Given the description of an element on the screen output the (x, y) to click on. 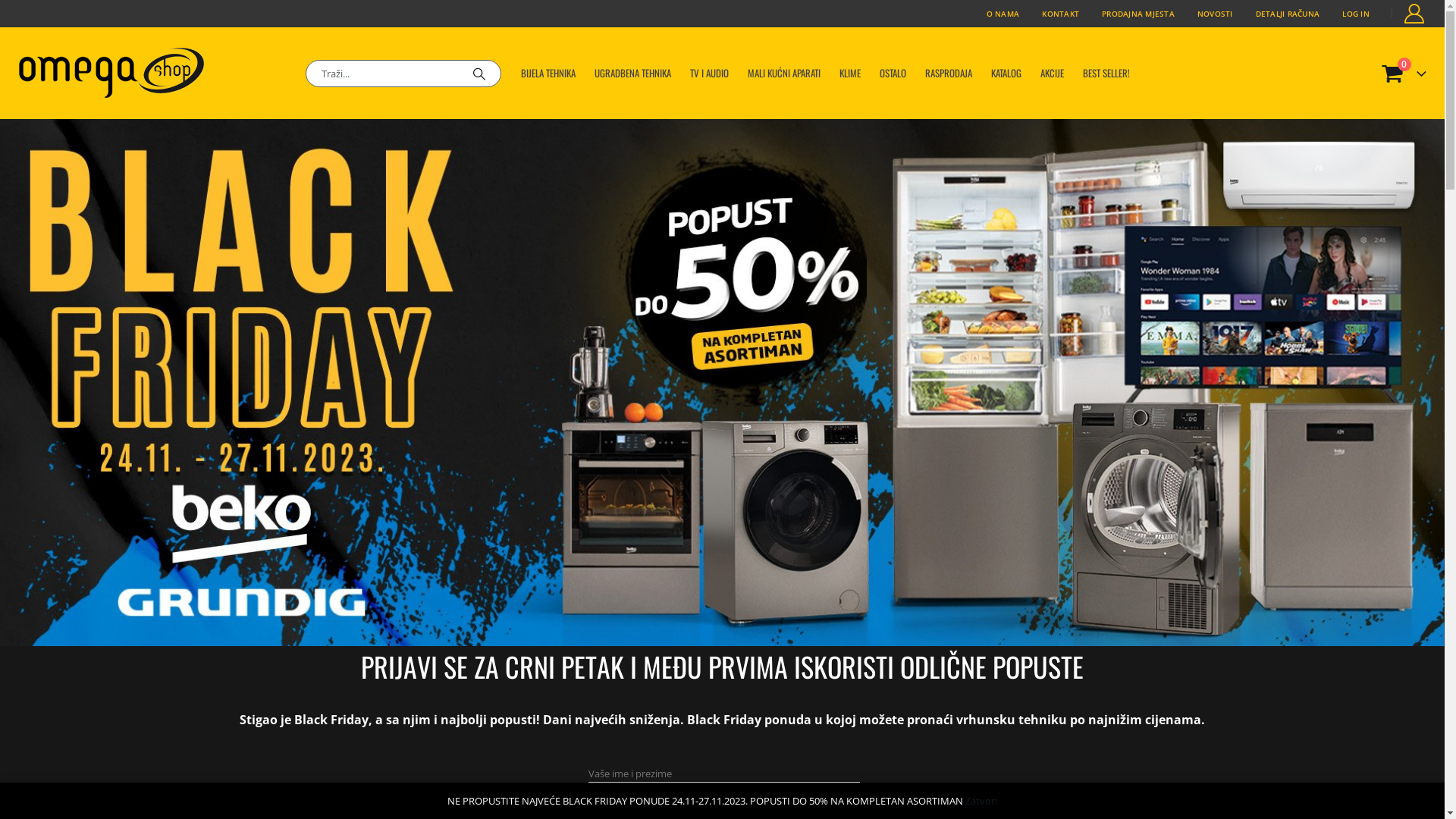
AKCIJE Element type: text (1052, 73)
KLIME Element type: text (849, 73)
Zatvori Element type: text (981, 800)
KONTAKT Element type: text (1060, 13)
BIJELA TEHNIKA Element type: text (547, 73)
BEST SELLER! Element type: text (1106, 73)
LOG IN Element type: text (1355, 13)
OSTALO Element type: text (892, 73)
UGRADBENA TEHNIKA Element type: text (632, 73)
TV I AUDIO Element type: text (708, 73)
O NAMA Element type: text (1003, 13)
PRODAJNA MJESTA Element type: text (1138, 13)
Search Element type: hover (479, 73)
NOVOSTI Element type: text (1215, 13)
My Account Element type: hover (1414, 13)
KATALOG Element type: text (1006, 73)
RASPRODAJA Element type: text (948, 73)
